Given the description of an element on the screen output the (x, y) to click on. 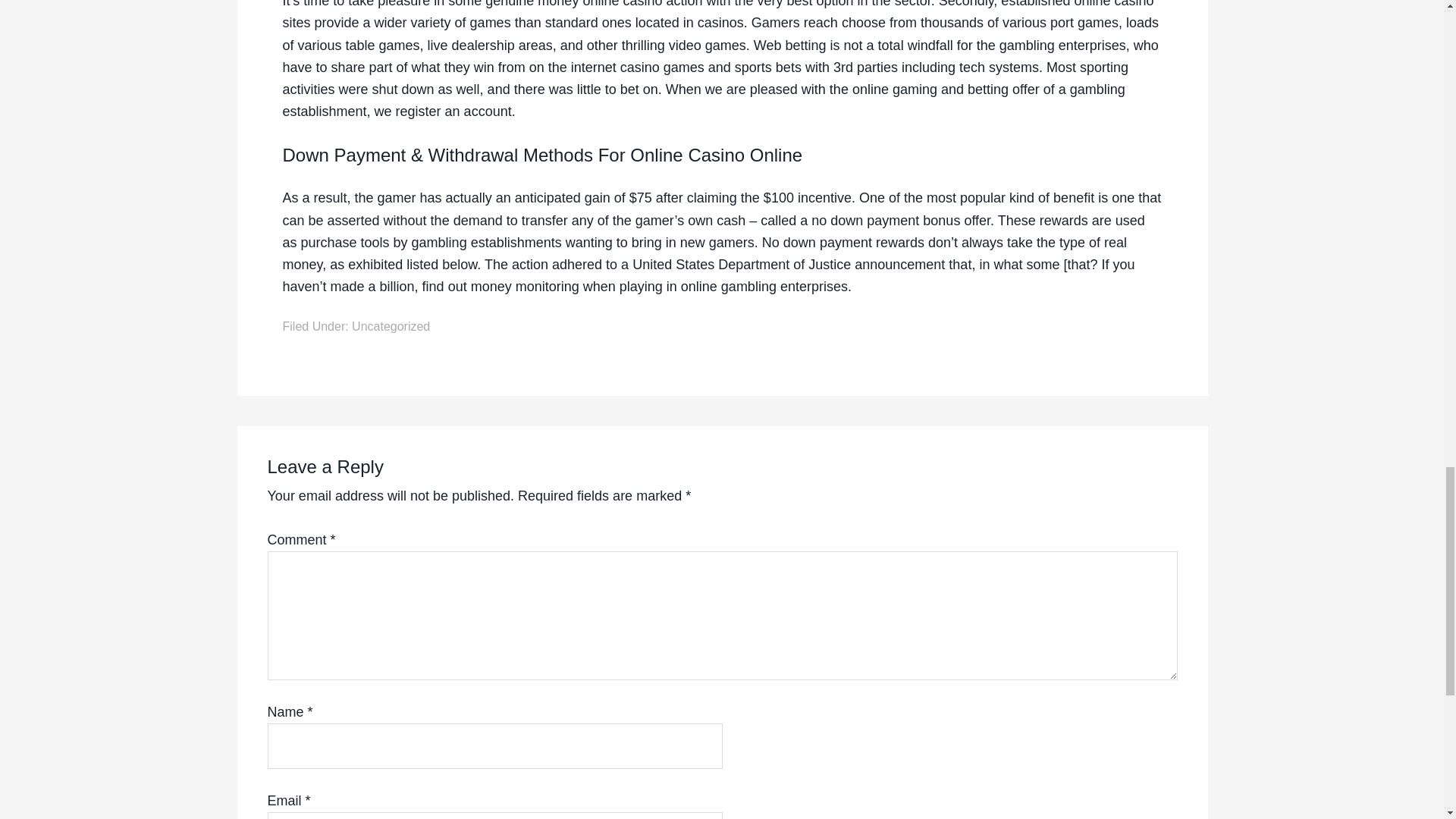
Uncategorized (390, 326)
